Given the description of an element on the screen output the (x, y) to click on. 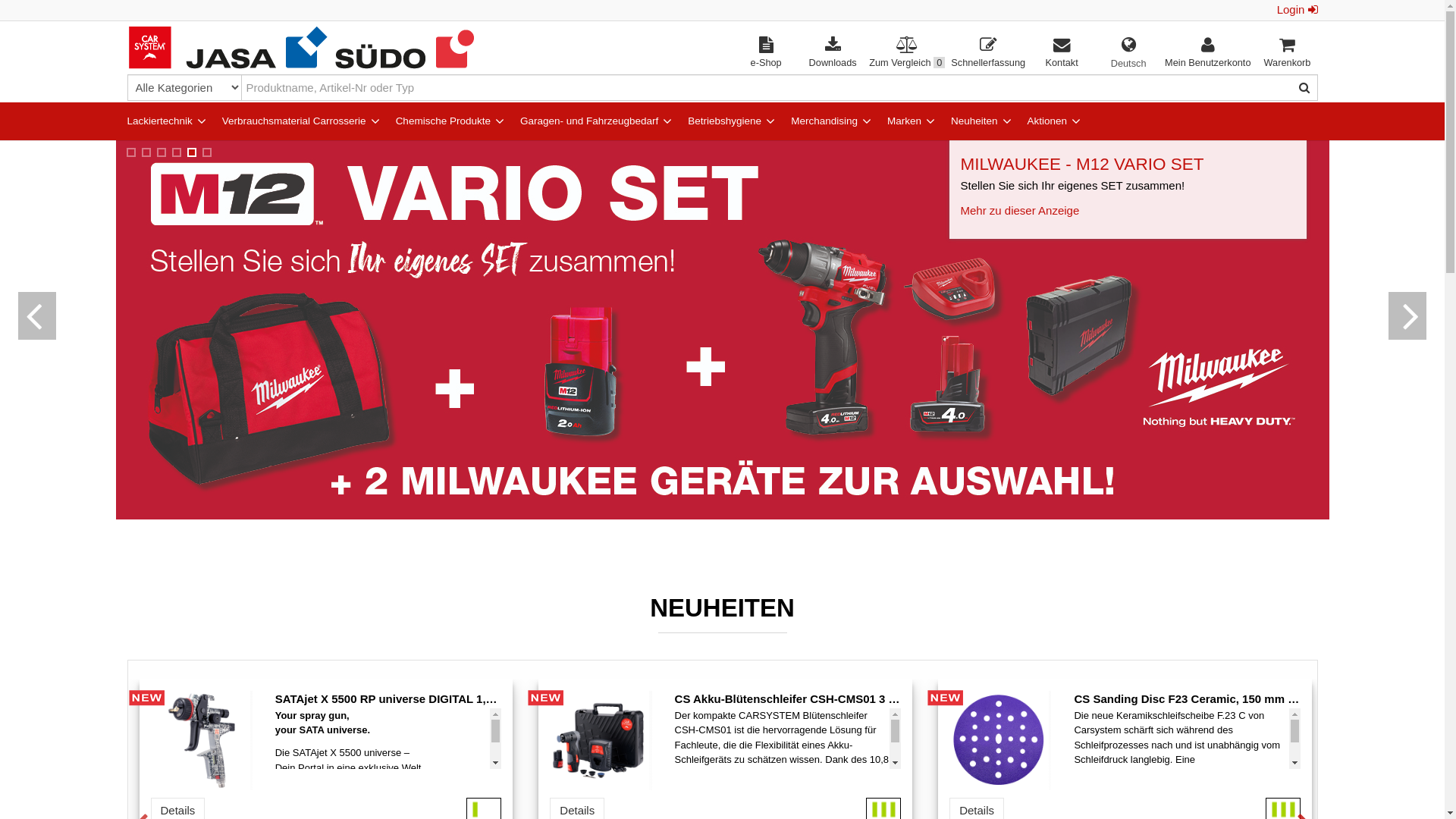
Login Element type: text (1297, 9)
Schnellerfassung Element type: text (987, 52)
Mein Benutzerkonto Element type: text (1207, 52)
Merchandising Element type: text (818, 120)
Garagen- und Fahrzeugbedarf Element type: text (583, 120)
Marken Element type: text (898, 120)
Warenkorb Element type: text (1287, 52)
L21184126 Element type: hover (146, 698)
Downloads Element type: text (832, 52)
Chemische Produkte Element type: text (437, 120)
Aktionen Element type: text (1041, 120)
Lackiertechnik Element type: text (153, 120)
CS Sanding Disc F23 Ceramic, 150 mm P80, 50 Stk Element type: hover (998, 740)
Deutsch Element type: text (1128, 63)
Kontakt Element type: text (1061, 52)
Betriebshygiene Element type: text (718, 120)
Neuheiten Element type: text (968, 120)
Verbrauchsmaterial Carrosserie Element type: text (288, 120)
e-Shop Element type: text (765, 53)
V159218 Element type: hover (945, 698)
Zum Vergleich 0 Element type: text (906, 52)
V159067 Element type: hover (545, 698)
Mehr zu dieser Anzeige Element type: text (1019, 192)
